Given the description of an element on the screen output the (x, y) to click on. 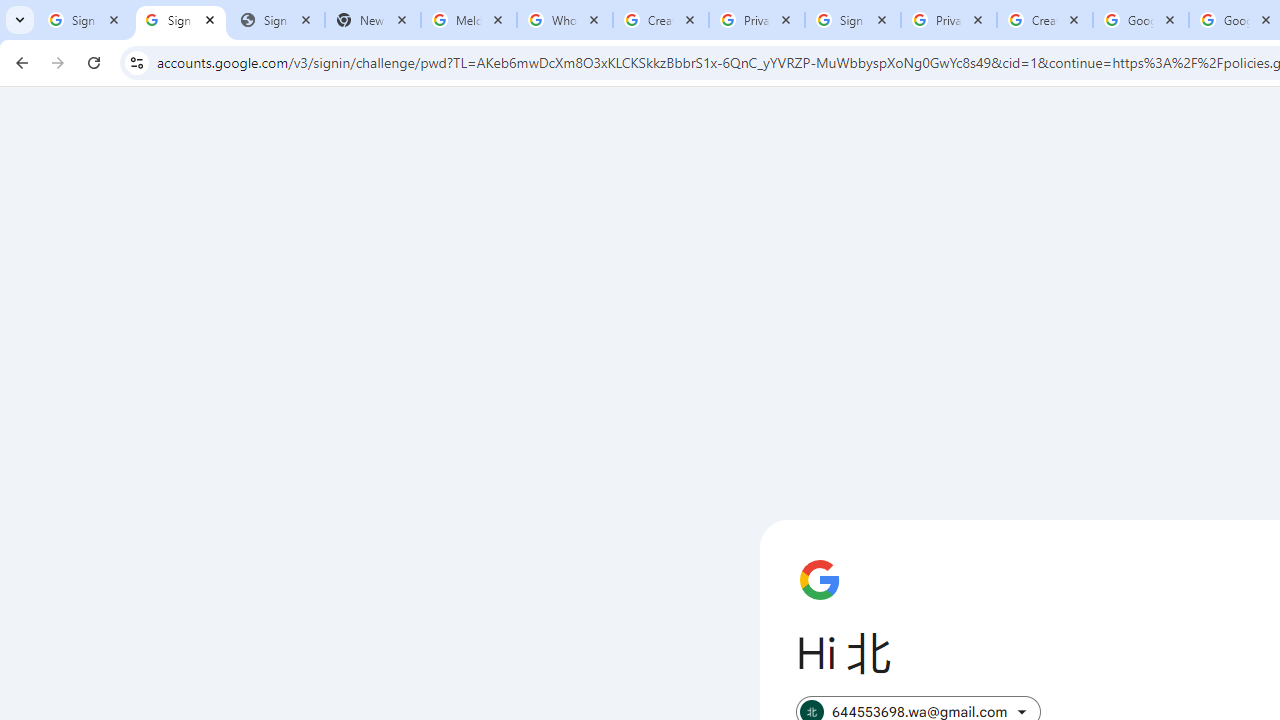
Create your Google Account (661, 20)
New Tab (373, 20)
Who is my administrator? - Google Account Help (565, 20)
Sign in - Google Accounts (181, 20)
